Given the description of an element on the screen output the (x, y) to click on. 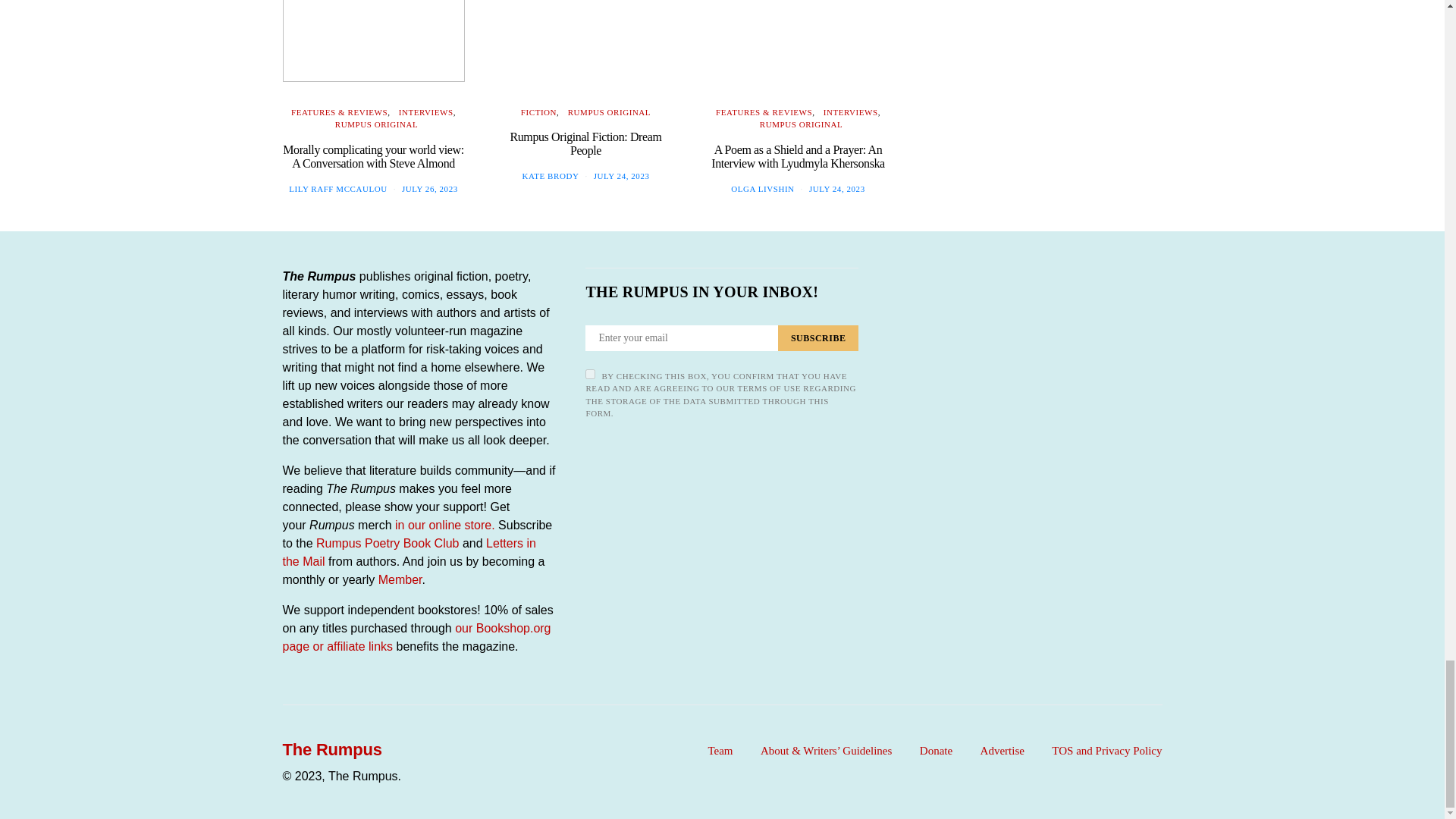
View all posts by Kate Brody (550, 175)
on (590, 374)
View all posts by Olga Livshin (761, 188)
View all posts by Lily Raff McCaulou (337, 188)
